Given the description of an element on the screen output the (x, y) to click on. 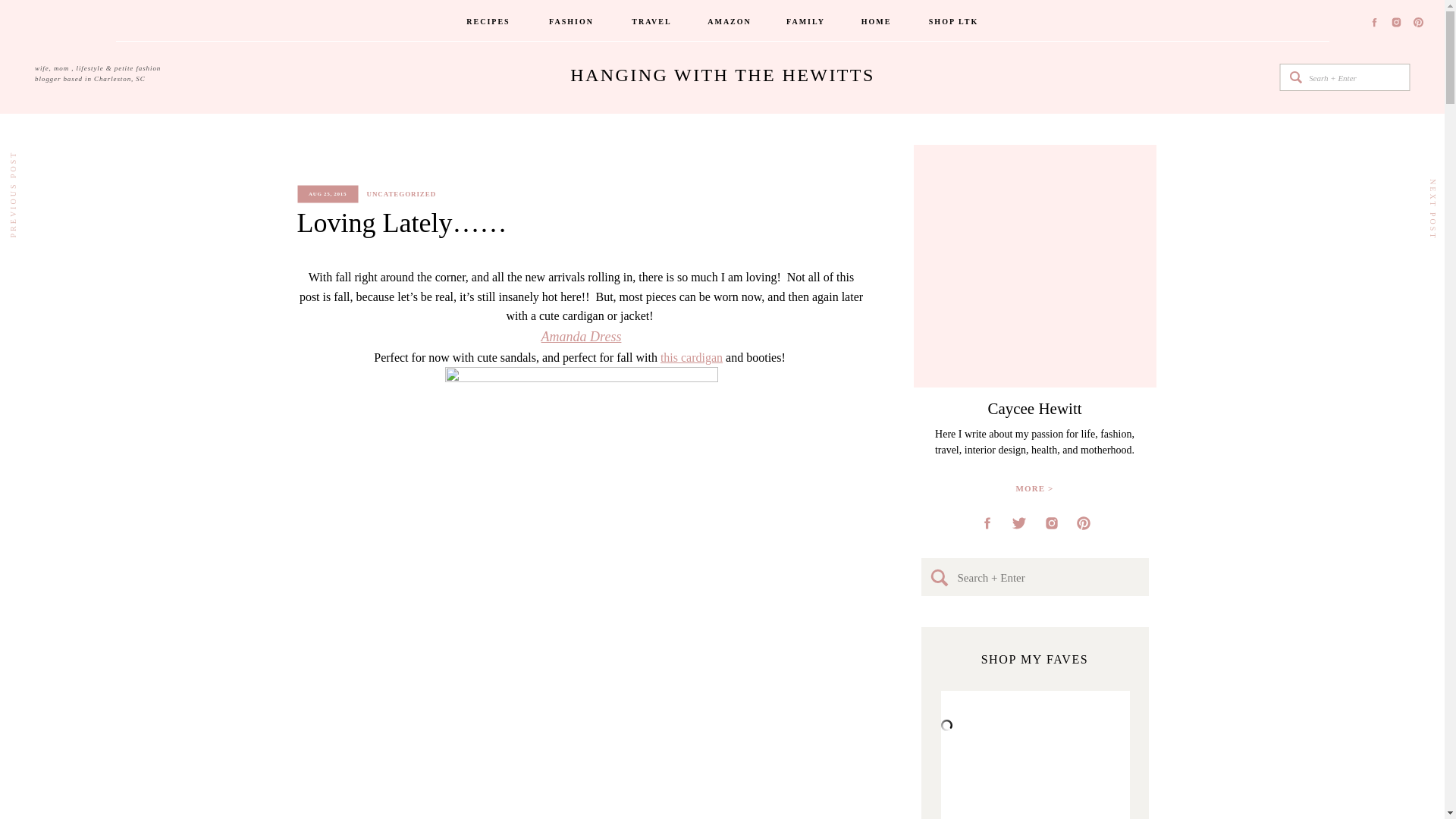
RECIPES (488, 23)
HOME (876, 23)
FASHION (571, 23)
this cardigan (691, 357)
Amanda Dress (581, 336)
SHOP LTK (953, 23)
FAMILY (806, 23)
AMAZON (729, 23)
HANGING WITH THE HEWITTS (722, 76)
UNCATEGORIZED (401, 194)
